Given the description of an element on the screen output the (x, y) to click on. 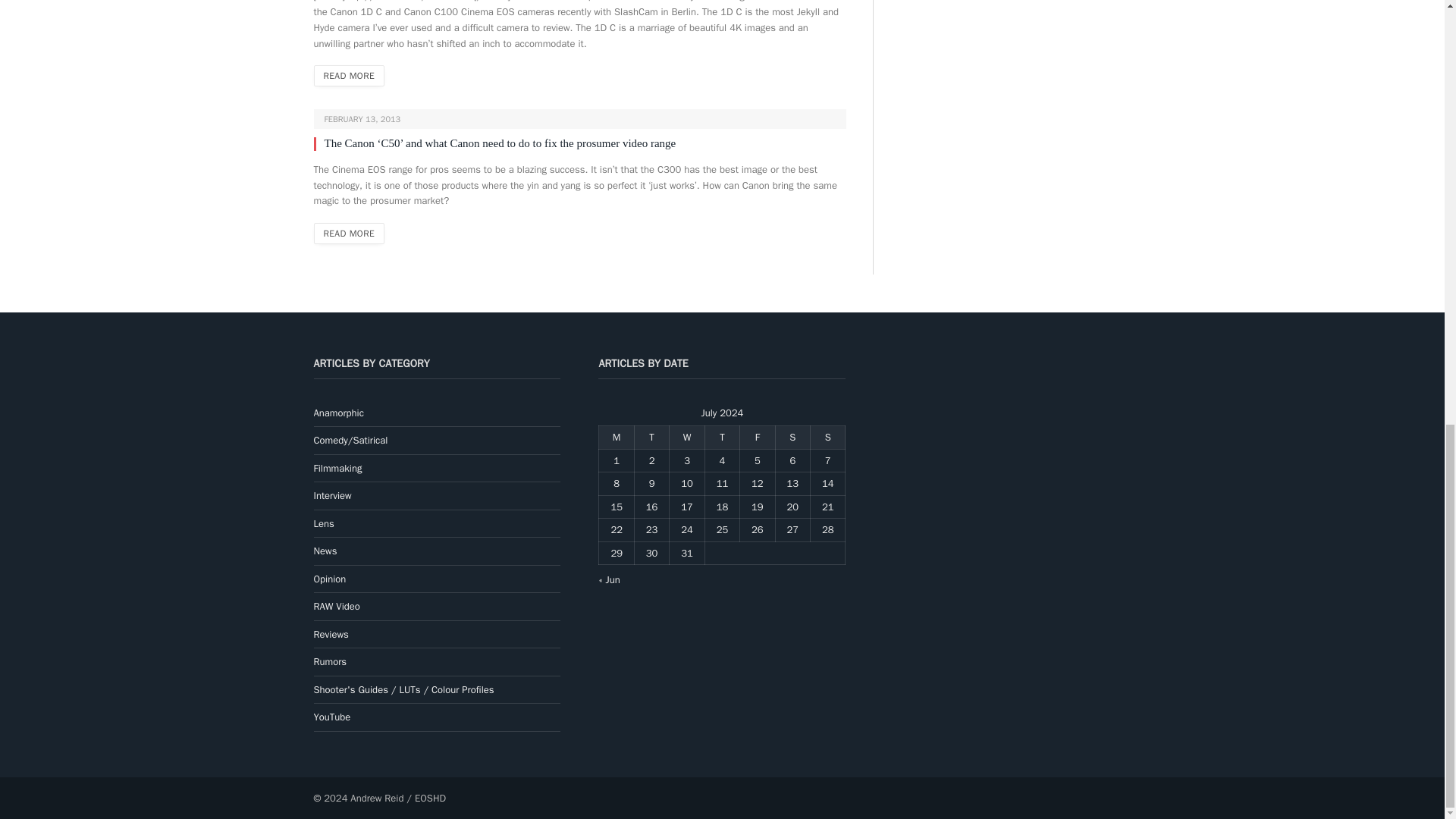
Saturday (791, 437)
Monday (615, 437)
Tuesday (650, 437)
Friday (756, 437)
Wednesday (686, 437)
Thursday (721, 437)
Sunday (827, 437)
